Given the description of an element on the screen output the (x, y) to click on. 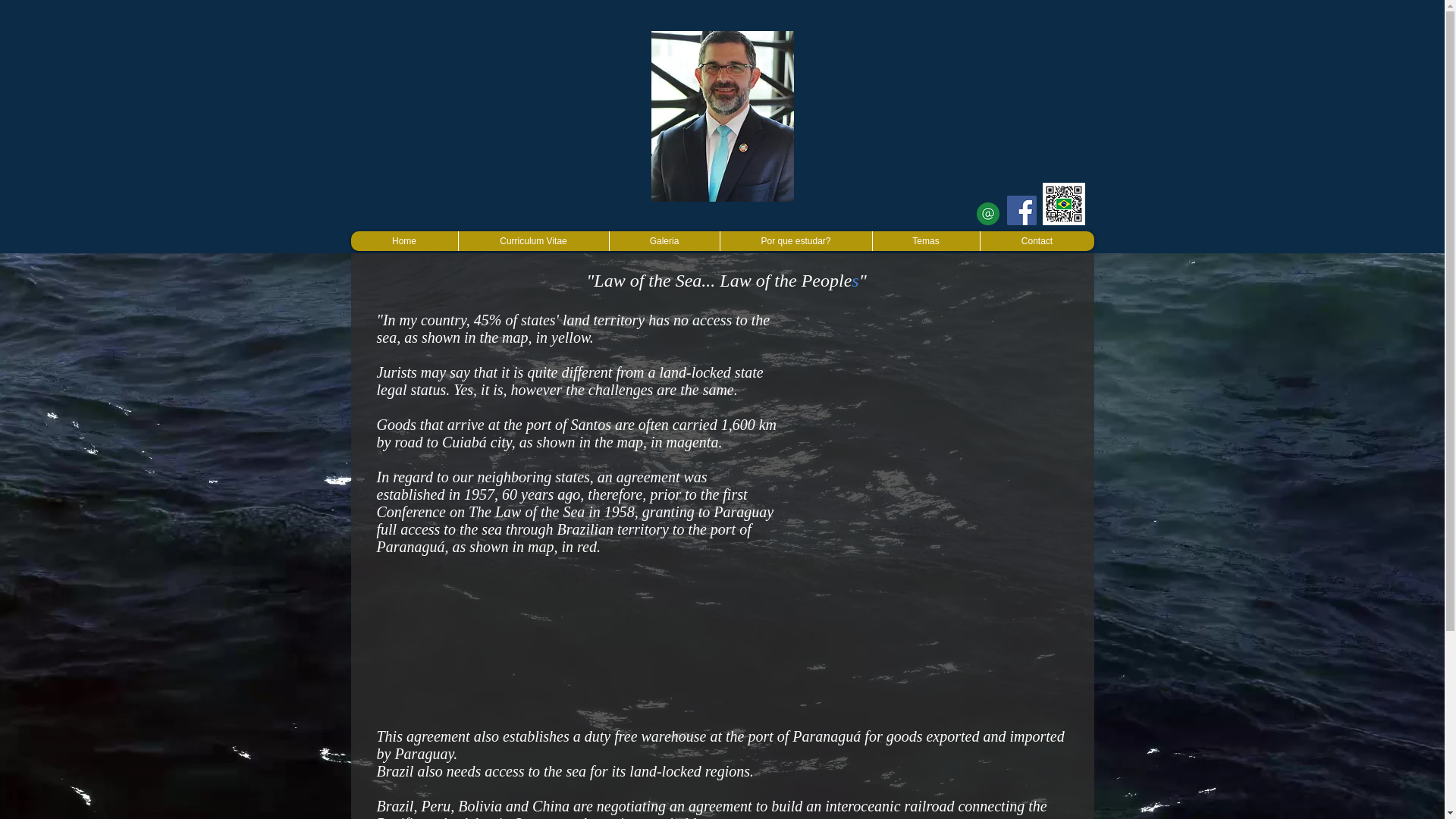
Contact (1036, 240)
Curriculum Vitae (533, 240)
Galeria (663, 240)
Home (403, 240)
Temas (925, 240)
Por que estudar? (794, 240)
